Given the description of an element on the screen output the (x, y) to click on. 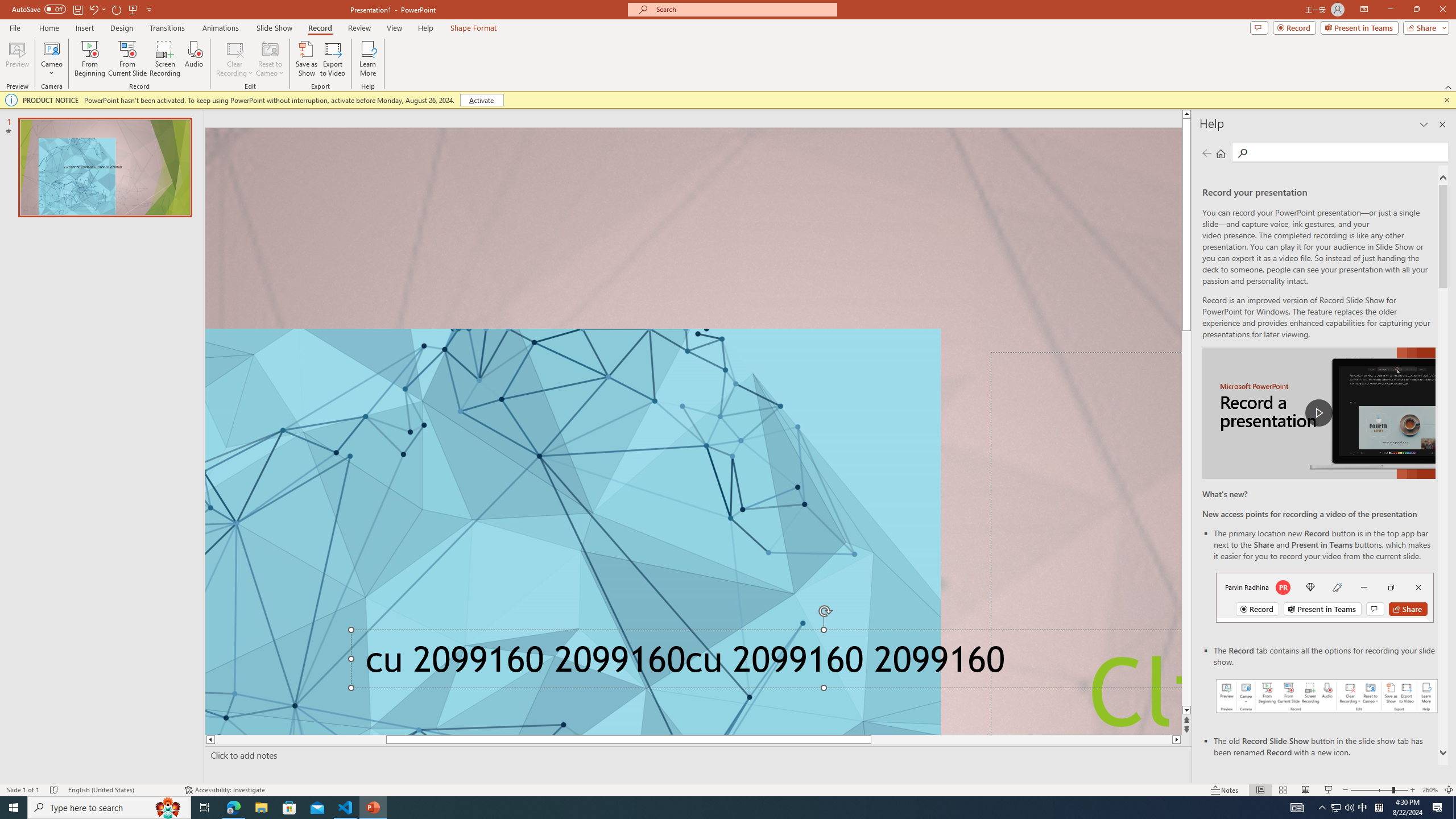
Record your presentations screenshot one (1326, 695)
Activate (481, 100)
Close this message (1446, 99)
